Given the description of an element on the screen output the (x, y) to click on. 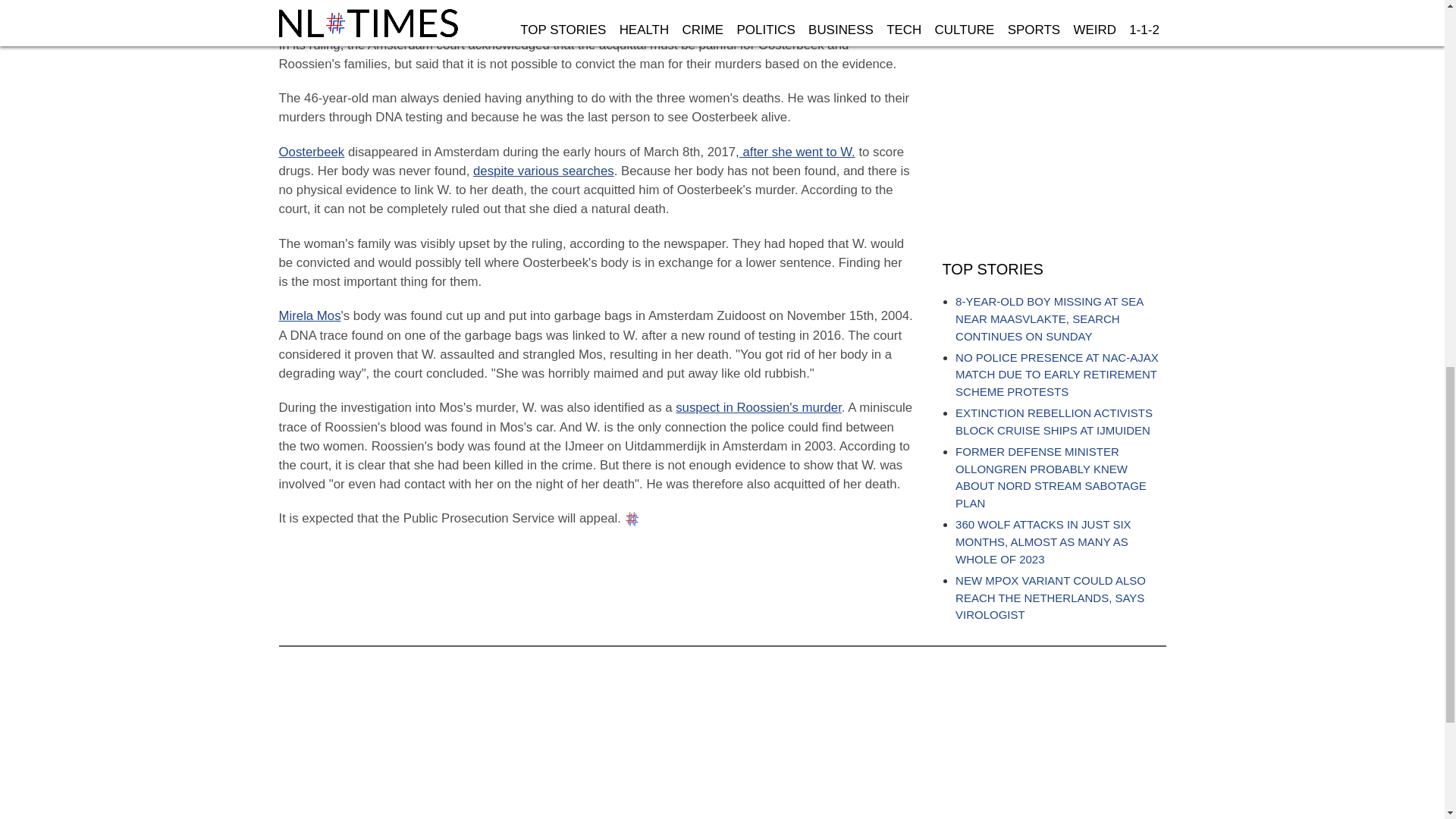
Mirela Mos (309, 315)
despite various searches (543, 170)
suspect in Roossien's murder (758, 407)
, after she went to W. (795, 151)
Oosterbeek (312, 151)
